Given the description of an element on the screen output the (x, y) to click on. 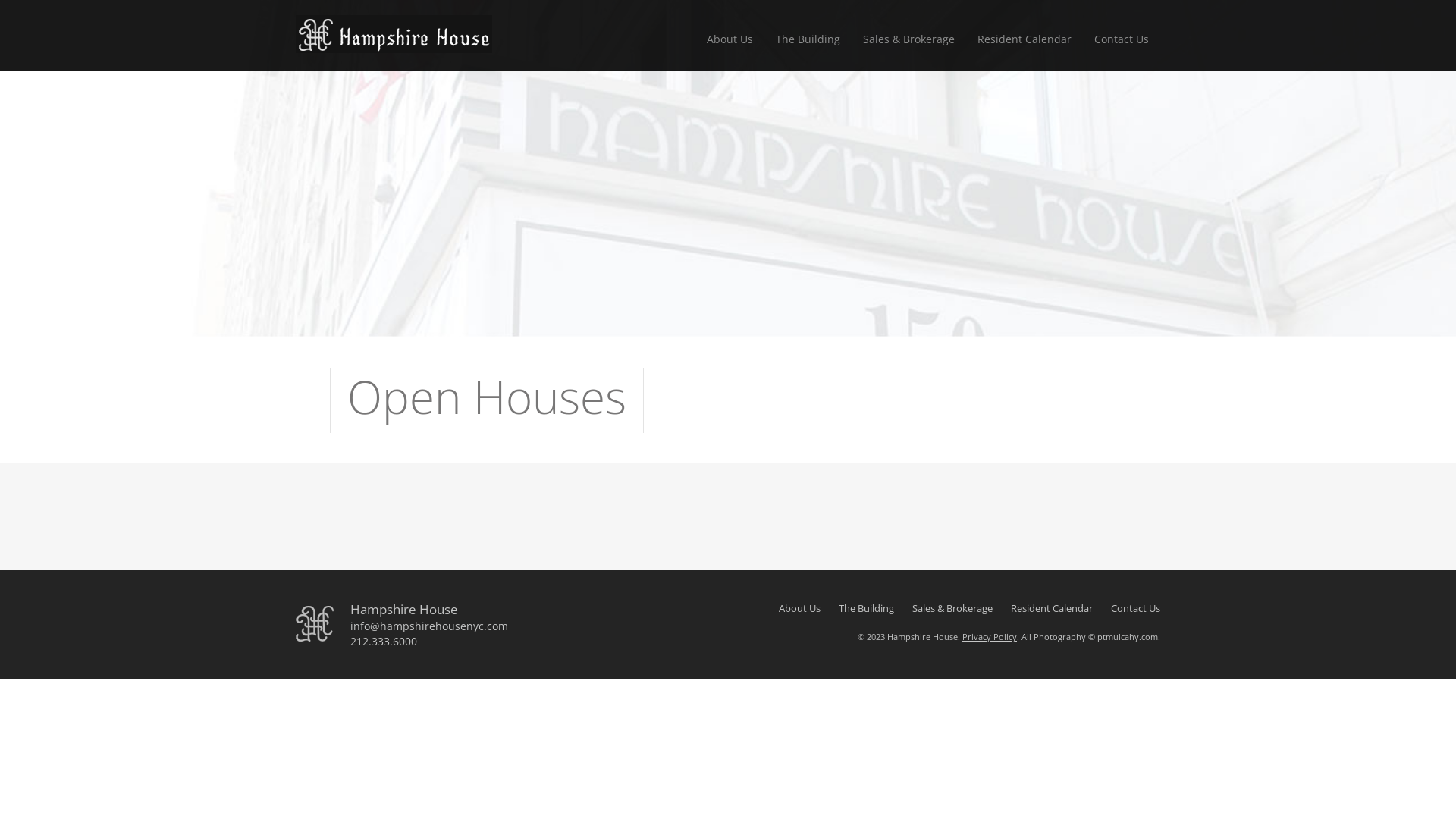
Resident Calendar Element type: text (1051, 608)
Privacy Policy Element type: text (989, 636)
The Building Element type: text (807, 42)
212.333.6000 Element type: text (459, 641)
About Us Element type: text (799, 608)
About Us Element type: text (729, 42)
Contact Us Element type: text (1135, 608)
The Building Element type: text (866, 608)
Sales & Brokerage Element type: text (952, 608)
Contact Us Element type: text (1121, 42)
Resident Calendar Element type: text (1024, 42)
Sales & Brokerage Element type: text (908, 42)
info@hampshirehousenyc.com Element type: text (459, 625)
